Given the description of an element on the screen output the (x, y) to click on. 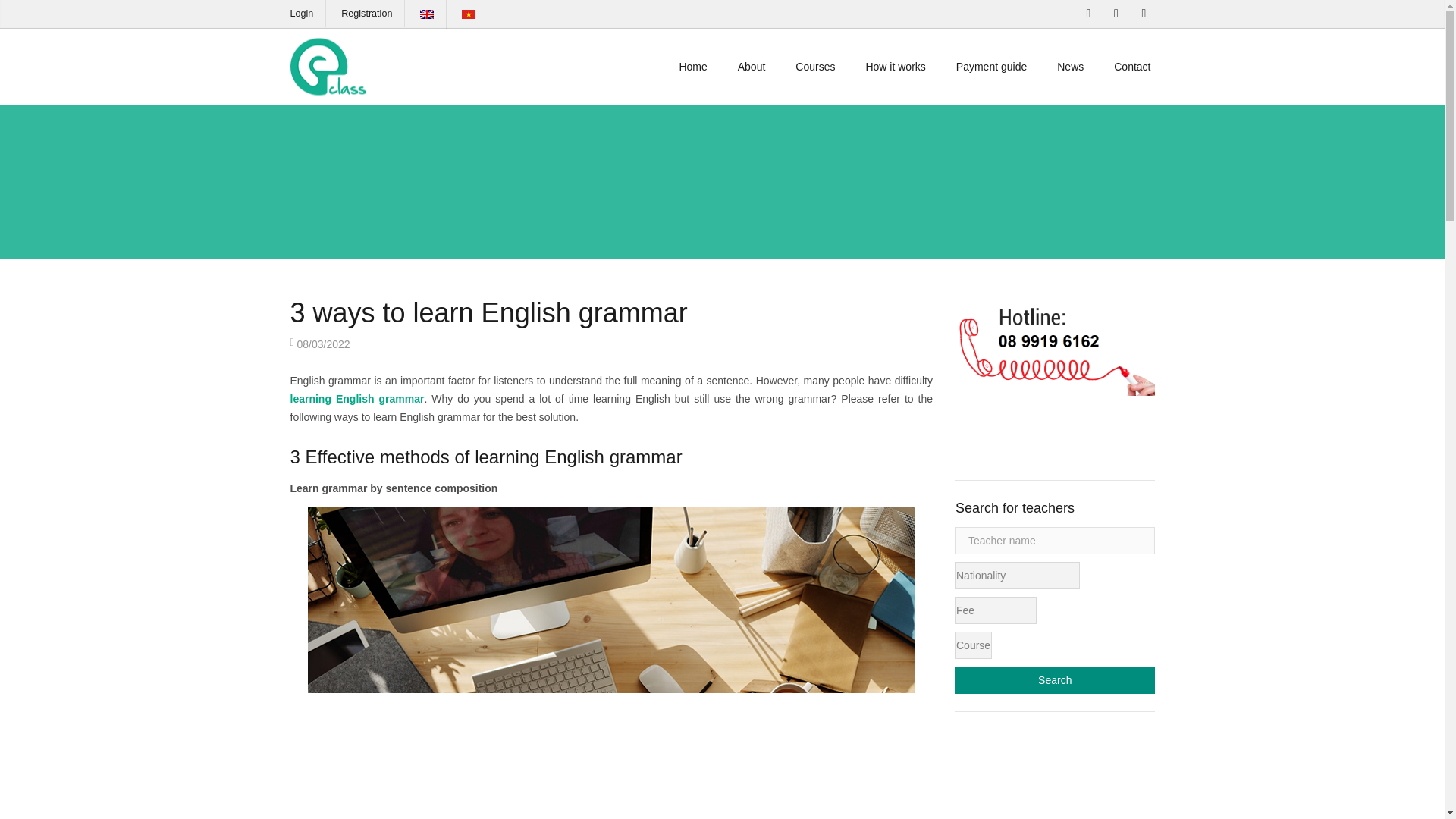
learning English grammar (356, 398)
Registration (365, 13)
Payment guide (991, 66)
How it works (895, 66)
English (426, 13)
Courses (815, 66)
Login (301, 13)
Search (1054, 679)
Search (1054, 679)
